Given the description of an element on the screen output the (x, y) to click on. 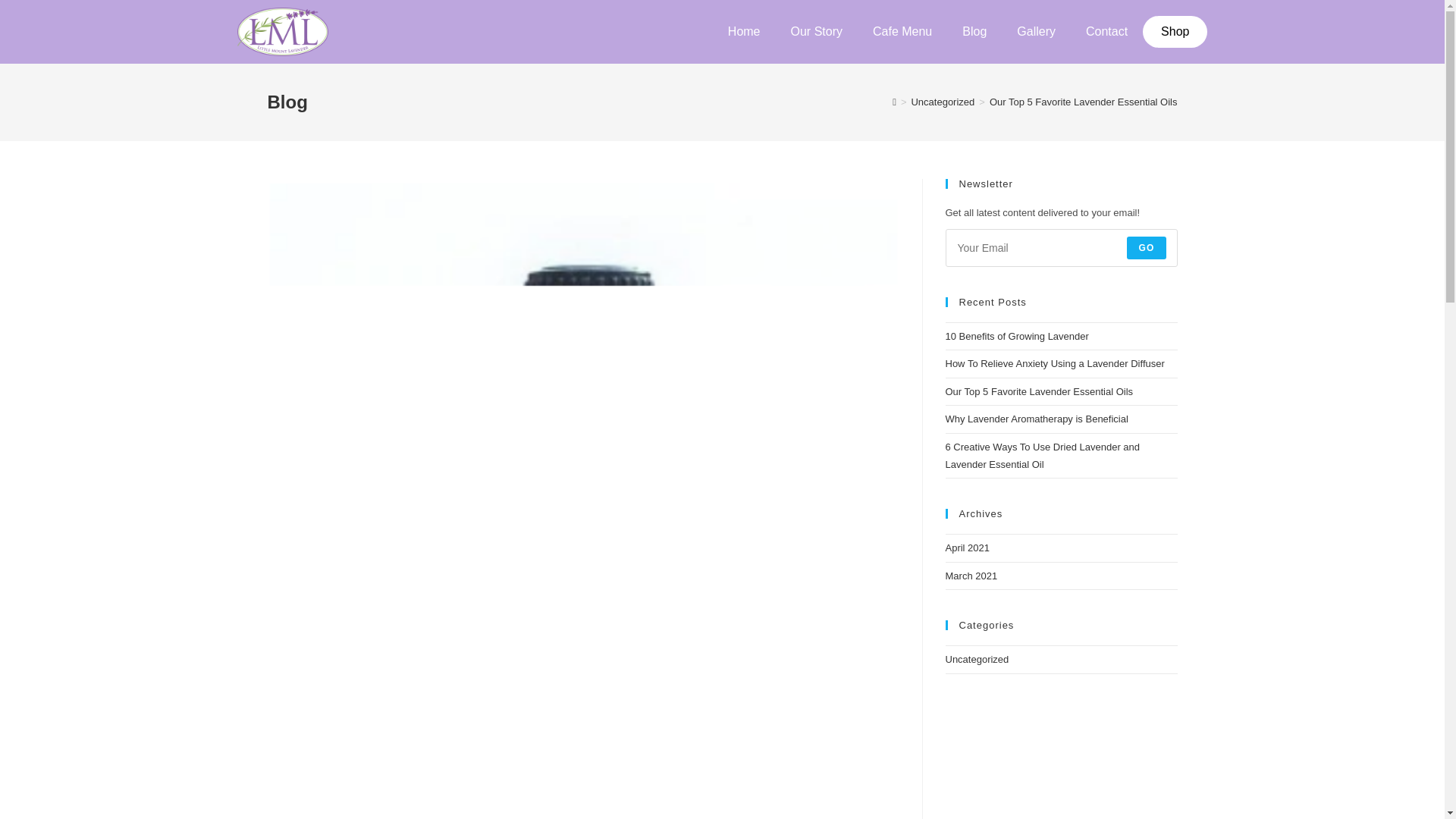
Uncategorized (942, 101)
Our Story (816, 32)
Gallery (1035, 32)
GO (1146, 247)
Contact (1106, 32)
Our Top 5 Favorite Lavender Essential Oils (1038, 391)
Cafe Menu (902, 32)
Home (744, 32)
Uncategorized (976, 659)
March 2021 (970, 575)
